Given the description of an element on the screen output the (x, y) to click on. 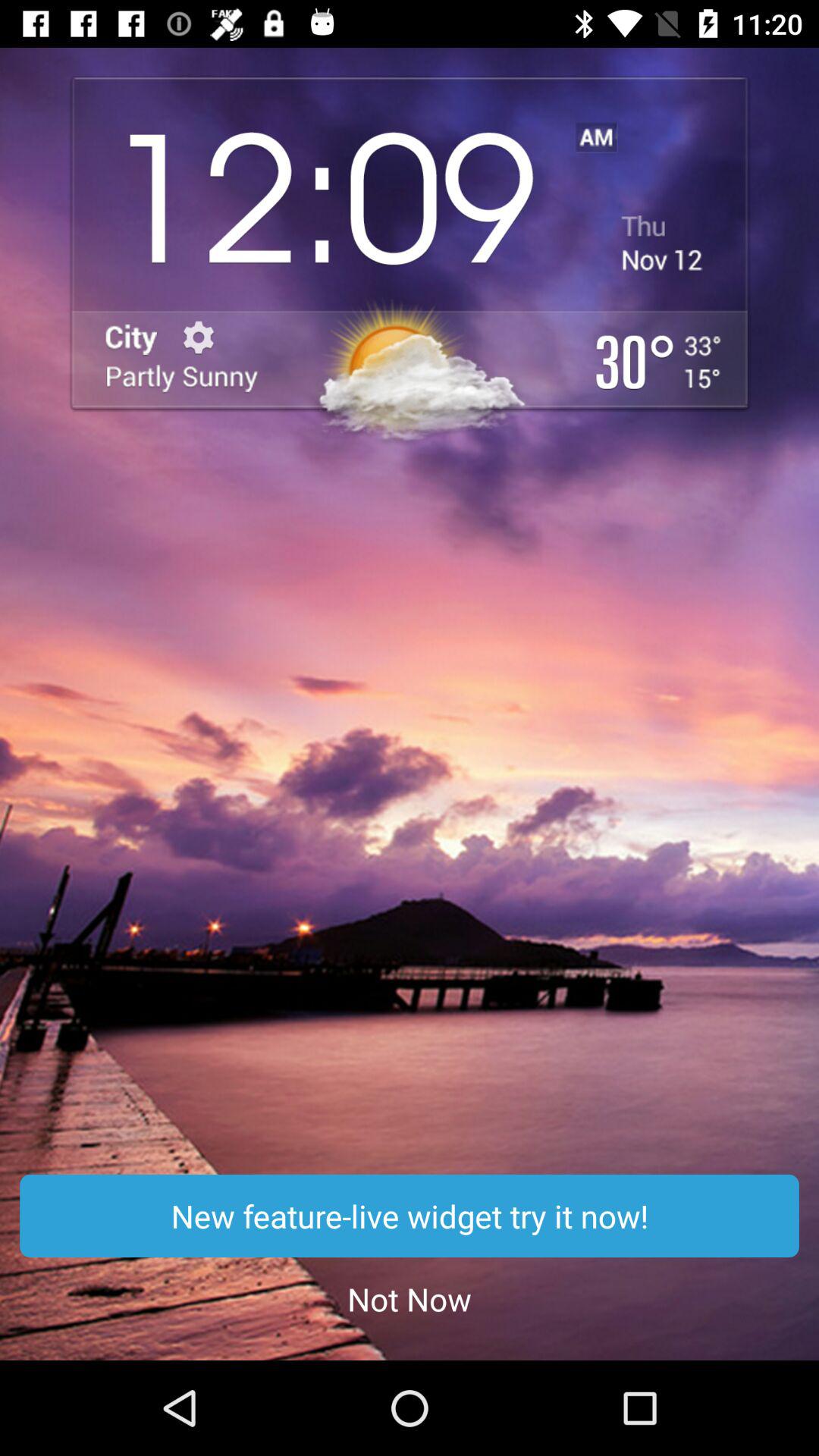
select new feature live icon (409, 1215)
